Given the description of an element on the screen output the (x, y) to click on. 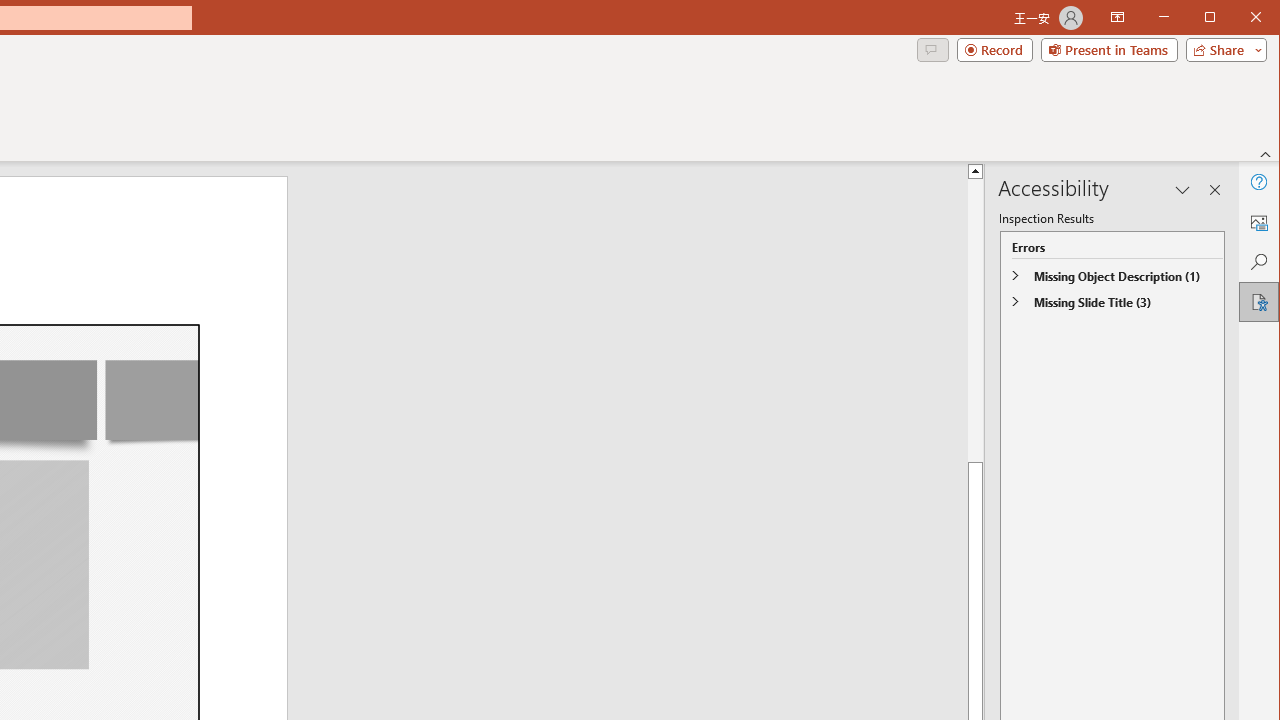
Maximize (1238, 18)
Search (1258, 261)
